Given the description of an element on the screen output the (x, y) to click on. 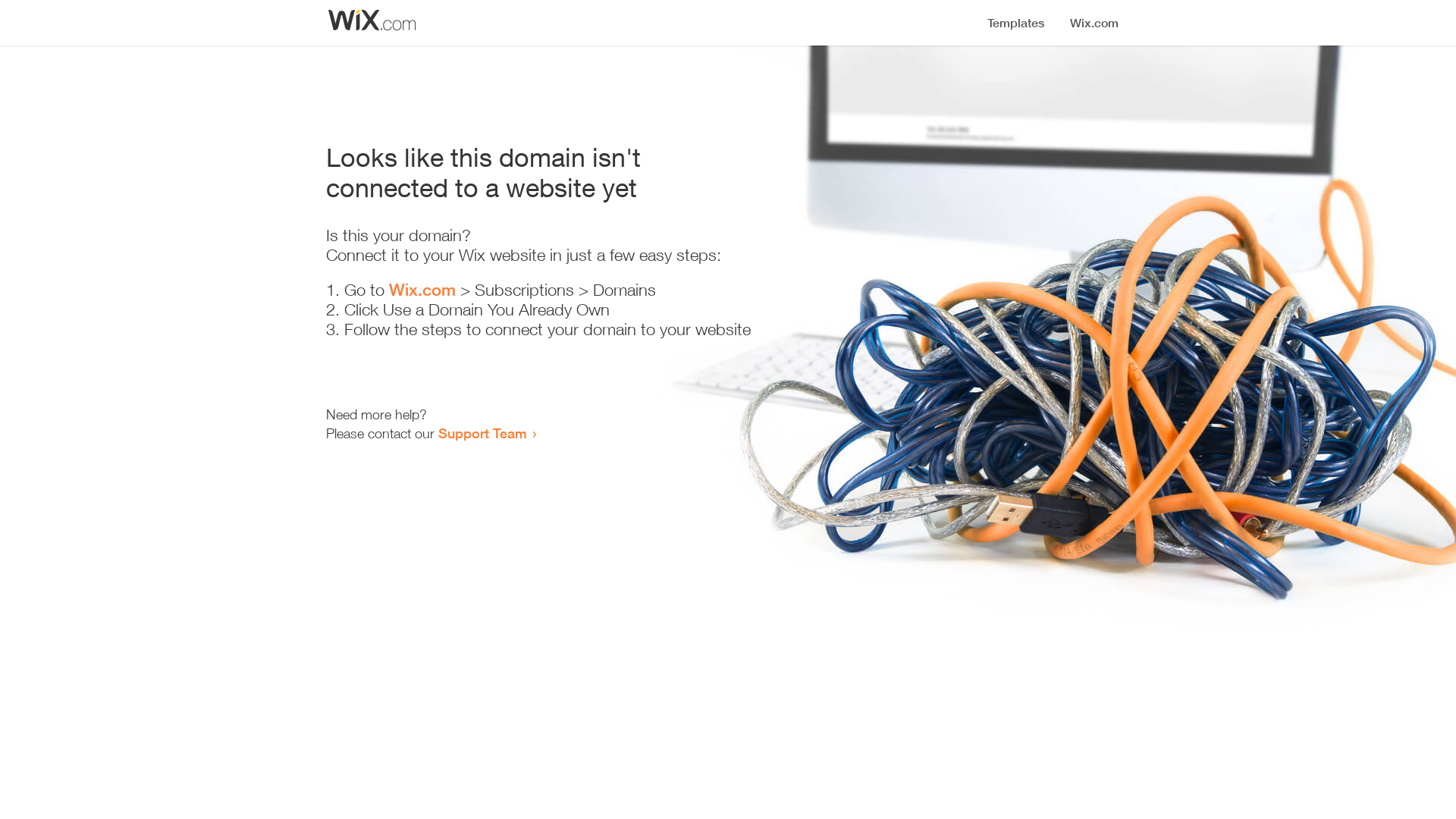
Support Team Element type: text (482, 432)
Wix.com Element type: text (422, 289)
